Given the description of an element on the screen output the (x, y) to click on. 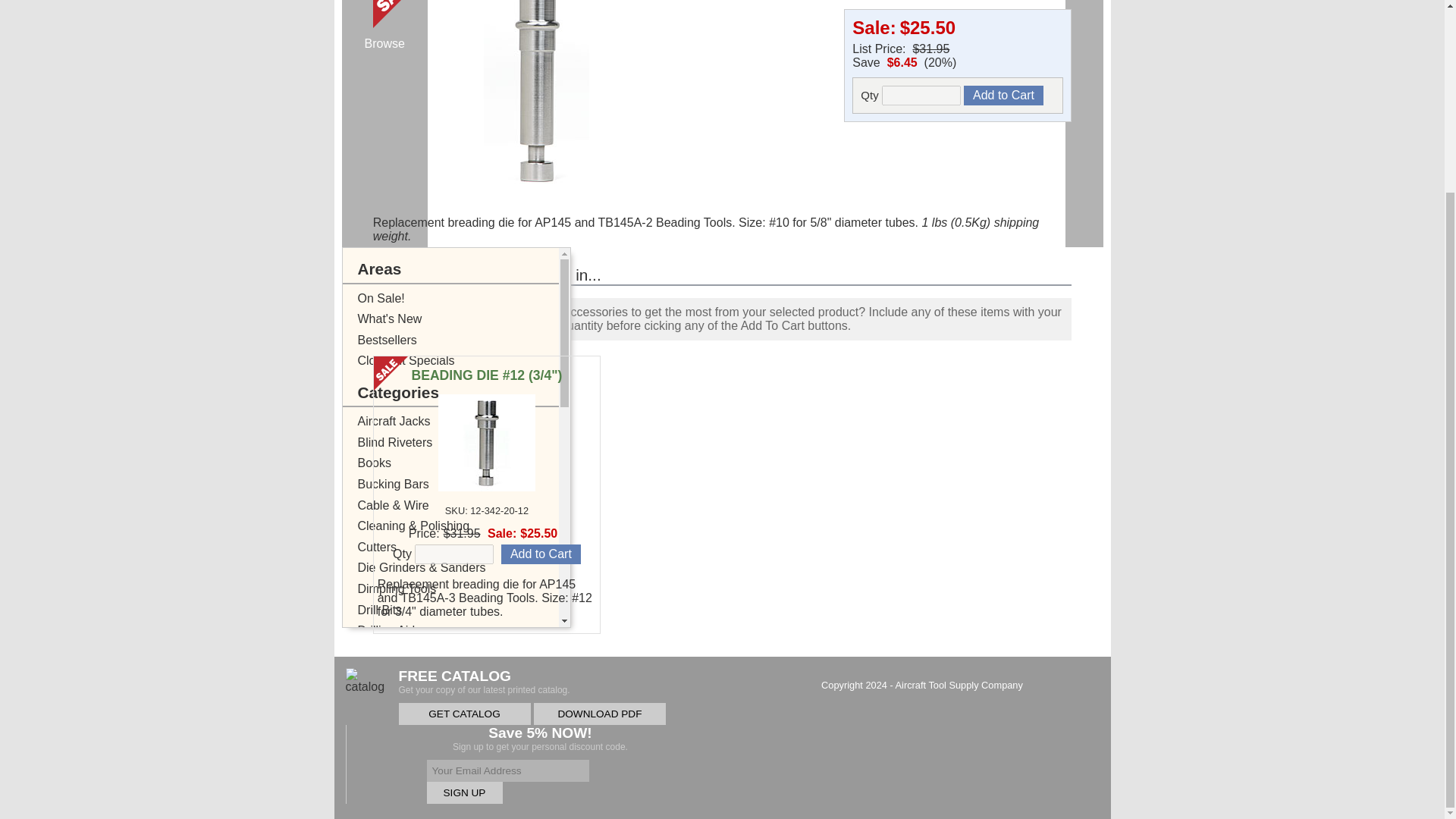
Add to Cart (1003, 95)
Bestsellers (465, 340)
Bucking Bars (465, 484)
What's New (465, 319)
Cutters (465, 547)
Fabric Tools (465, 714)
Engine Equipment (465, 693)
Drilling Aids (465, 630)
Drills (465, 651)
Miscellaneous (465, 756)
Hand Tools (465, 735)
Books (465, 463)
Blind Riveters (465, 442)
Drill Bits (465, 609)
Power Tools (465, 798)
